Given the description of an element on the screen output the (x, y) to click on. 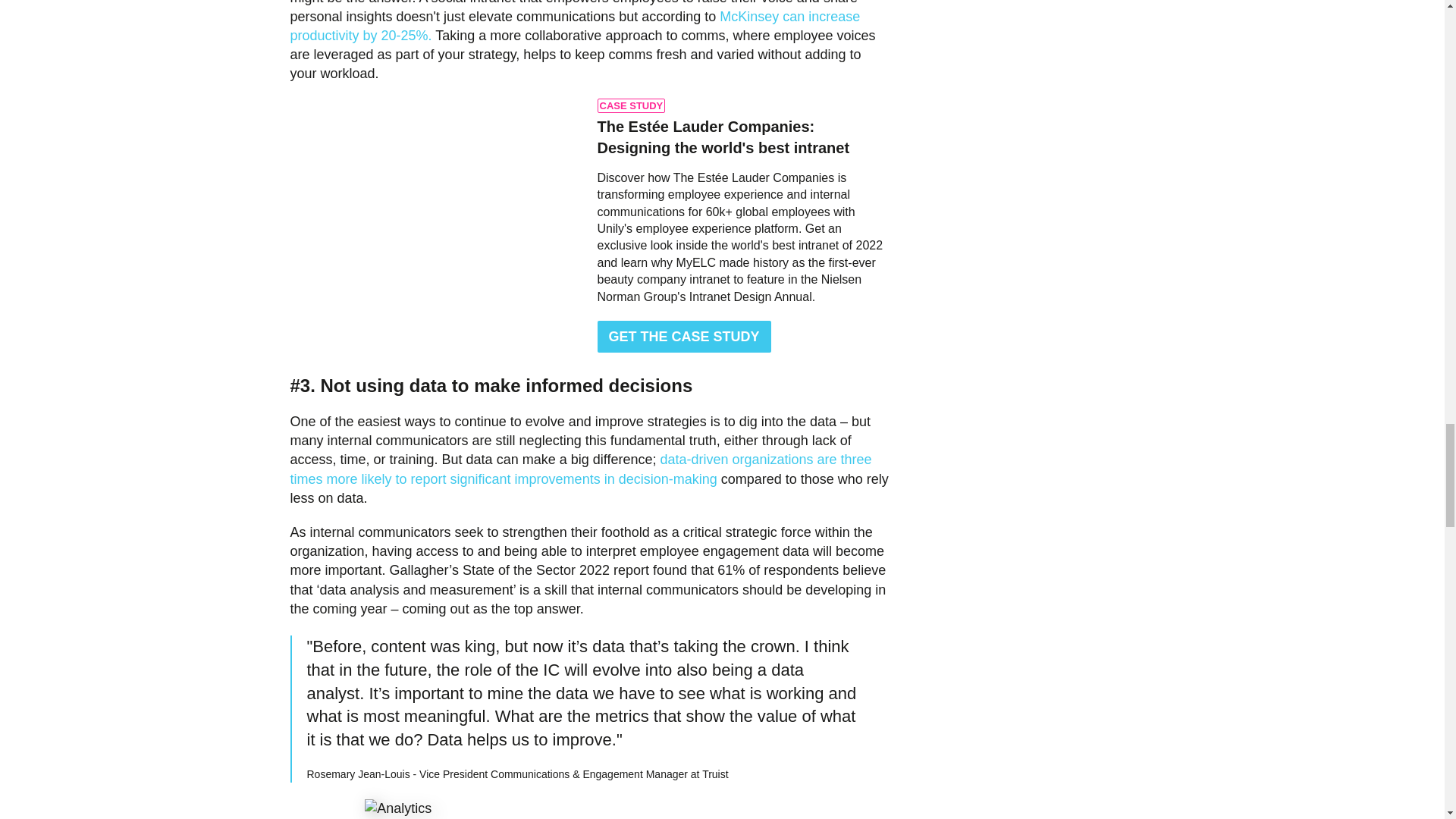
PWC - Data, analytics and AI (579, 469)
